Given the description of an element on the screen output the (x, y) to click on. 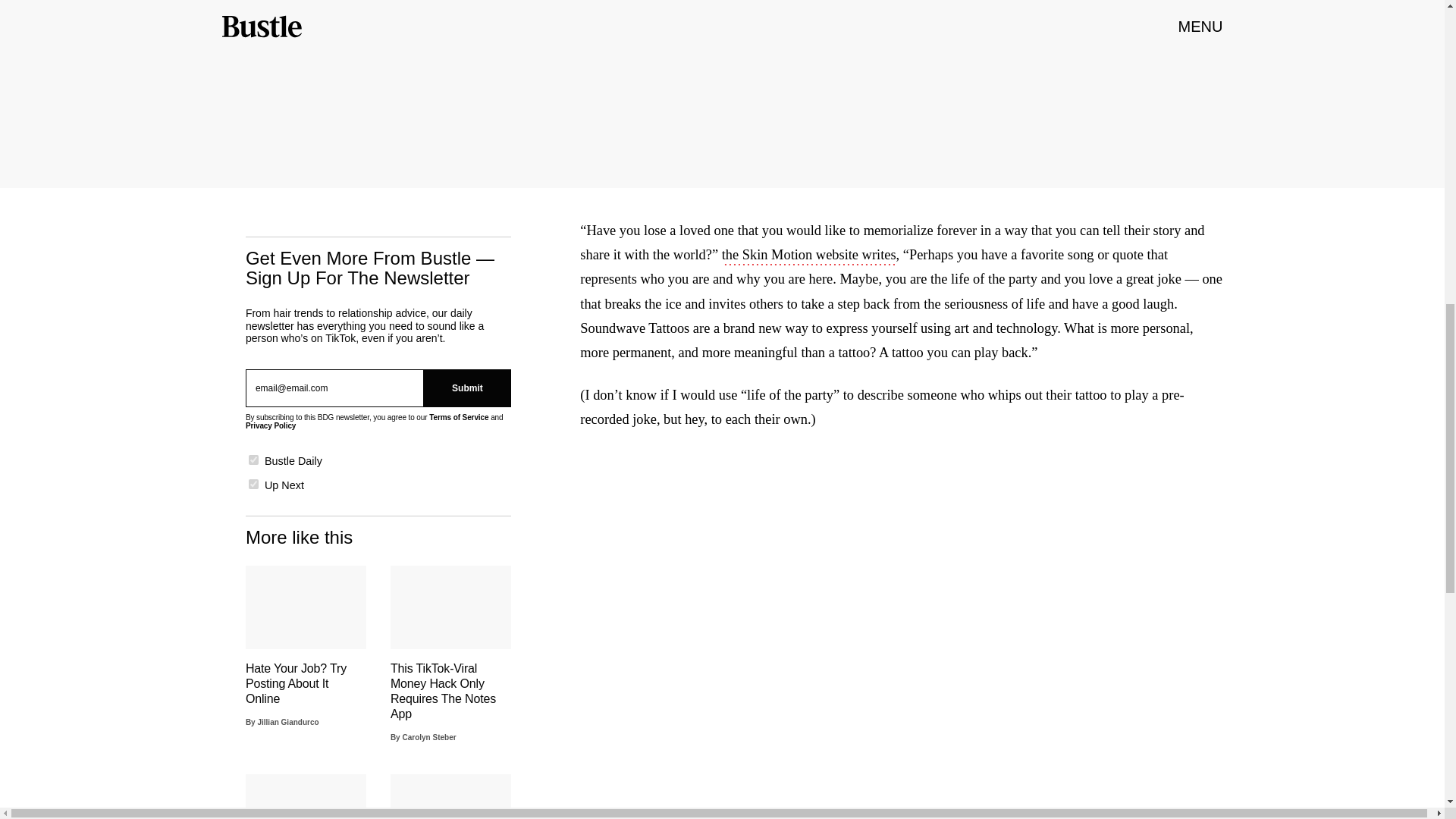
Terms of Service (458, 417)
the Skin Motion website writes (809, 256)
Privacy Policy (270, 425)
Submit (467, 388)
